Given the description of an element on the screen output the (x, y) to click on. 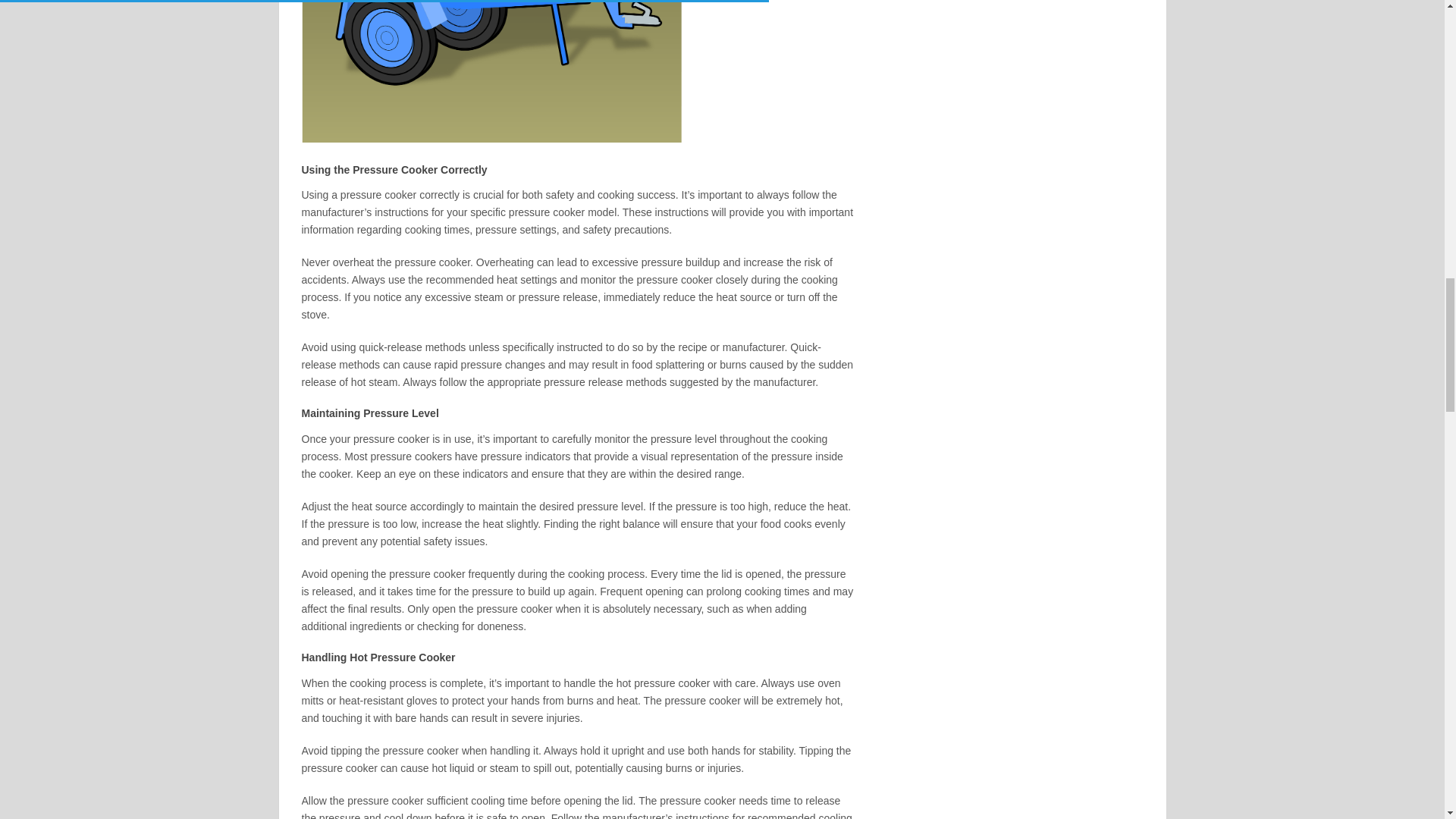
Safety Tips For Using Your Stainless Steel Pressure Cooker (491, 71)
